Given the description of an element on the screen output the (x, y) to click on. 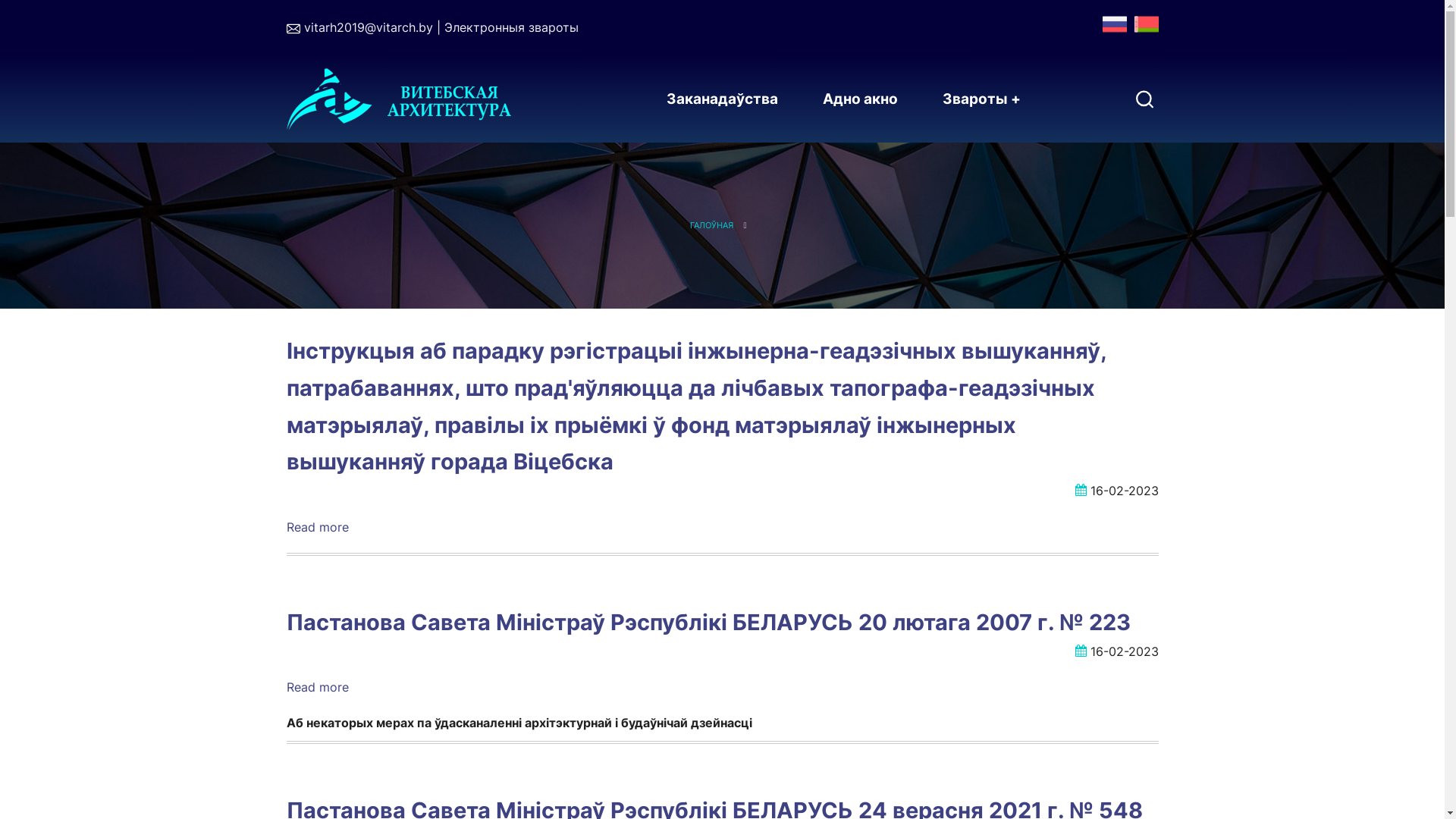
vitarh2019@vitarch.by Element type: text (367, 26)
